Given the description of an element on the screen output the (x, y) to click on. 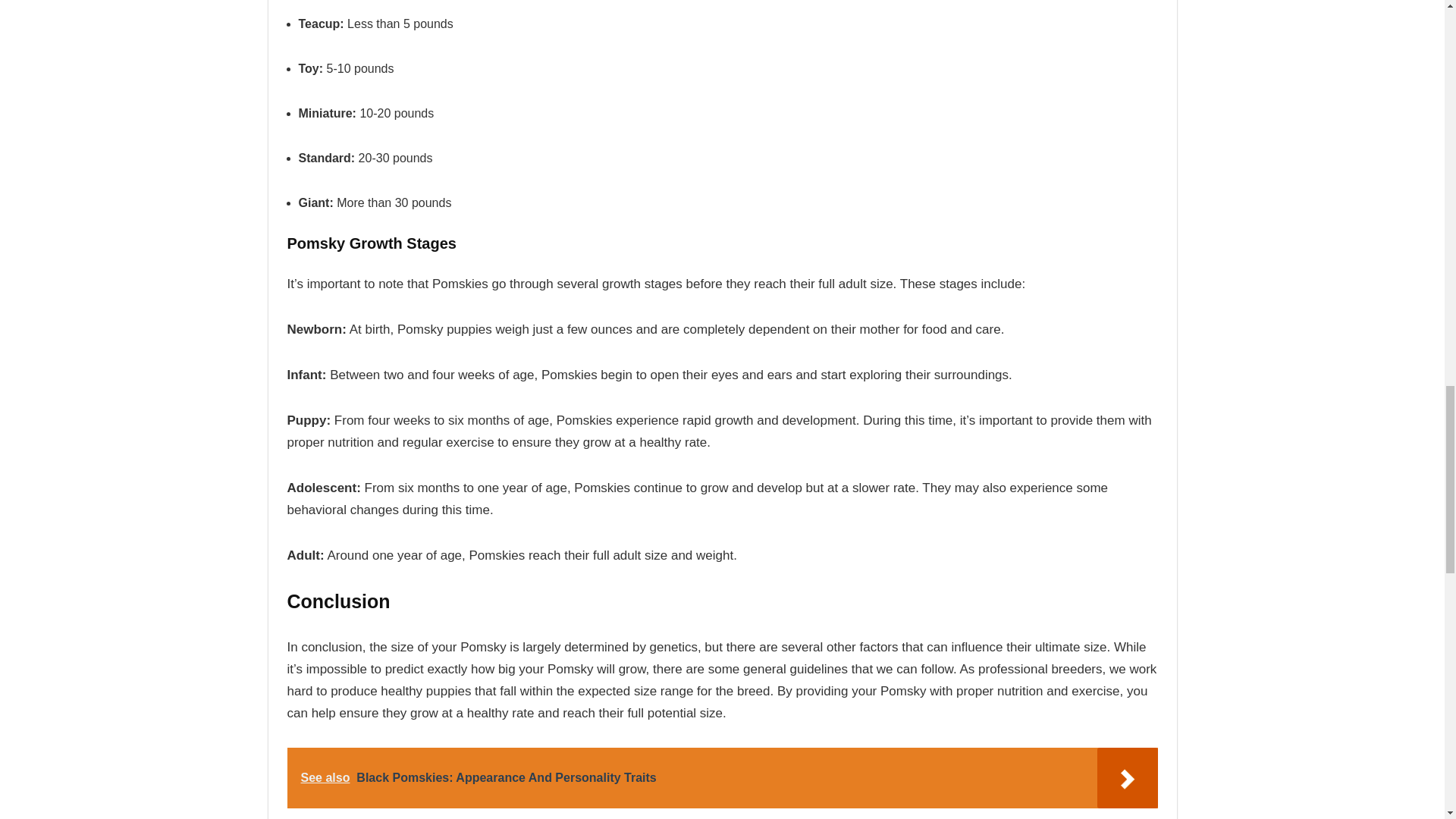
See also  Black Pomskies: Appearance And Personality Traits (721, 777)
